Given the description of an element on the screen output the (x, y) to click on. 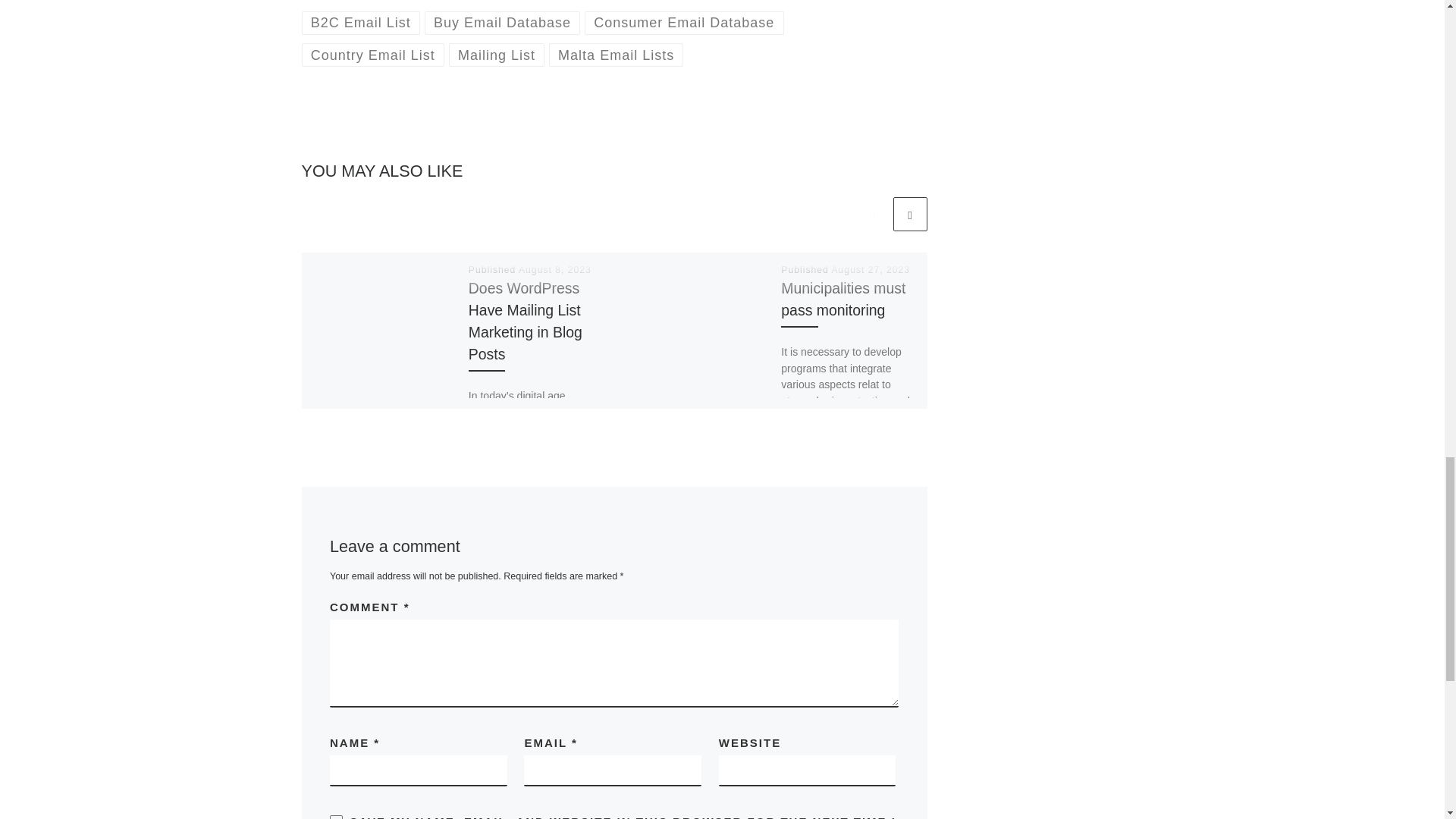
View all posts in B2C Email List (360, 22)
View all posts in Buy Email Database (502, 22)
Municipalities must pass monitoring (842, 299)
Country Email List (373, 54)
View all posts in Country Email List (373, 54)
Malta Email Lists (616, 54)
Consumer Email Database (684, 22)
View all posts in Mailing List (496, 54)
Does WordPress Have Mailing List Marketing in Blog Posts (525, 321)
View all posts in Consumer Email Database (684, 22)
Mailing List (496, 54)
yes (336, 816)
Next related articles (910, 213)
B2C Email List (360, 22)
August 8, 2023 (554, 269)
